Given the description of an element on the screen output the (x, y) to click on. 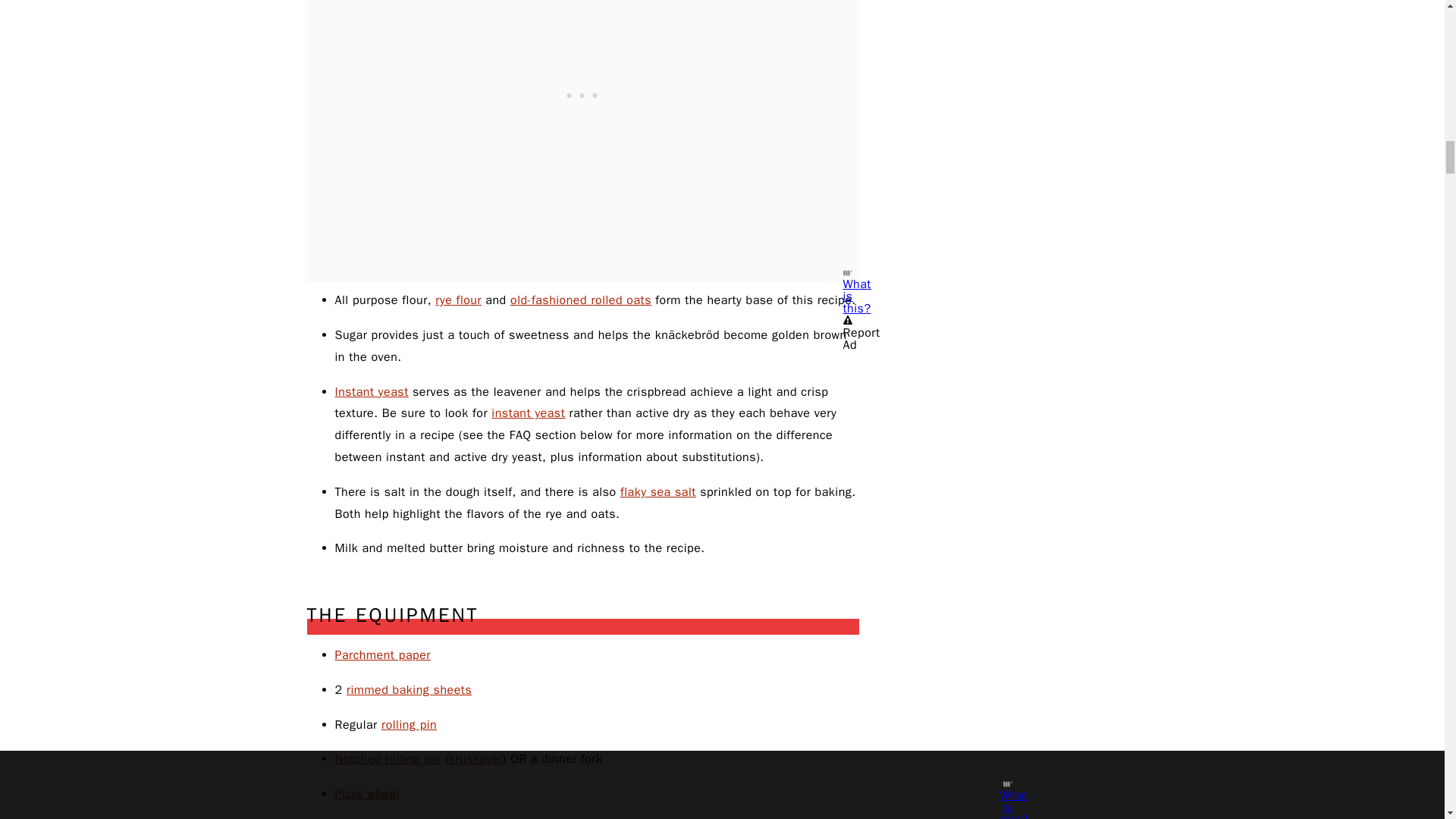
Pizza wheel (366, 793)
rimmed baking sheets (408, 689)
instant yeast (528, 412)
3rd party ad content (581, 69)
rolling pin (408, 724)
rye flour (458, 299)
old-fashioned rolled oats (580, 299)
Parchment paper (382, 654)
Notched rolling pin (387, 758)
kruskavel (475, 758)
flaky sea salt (657, 491)
Instant yeast (371, 391)
